Given the description of an element on the screen output the (x, y) to click on. 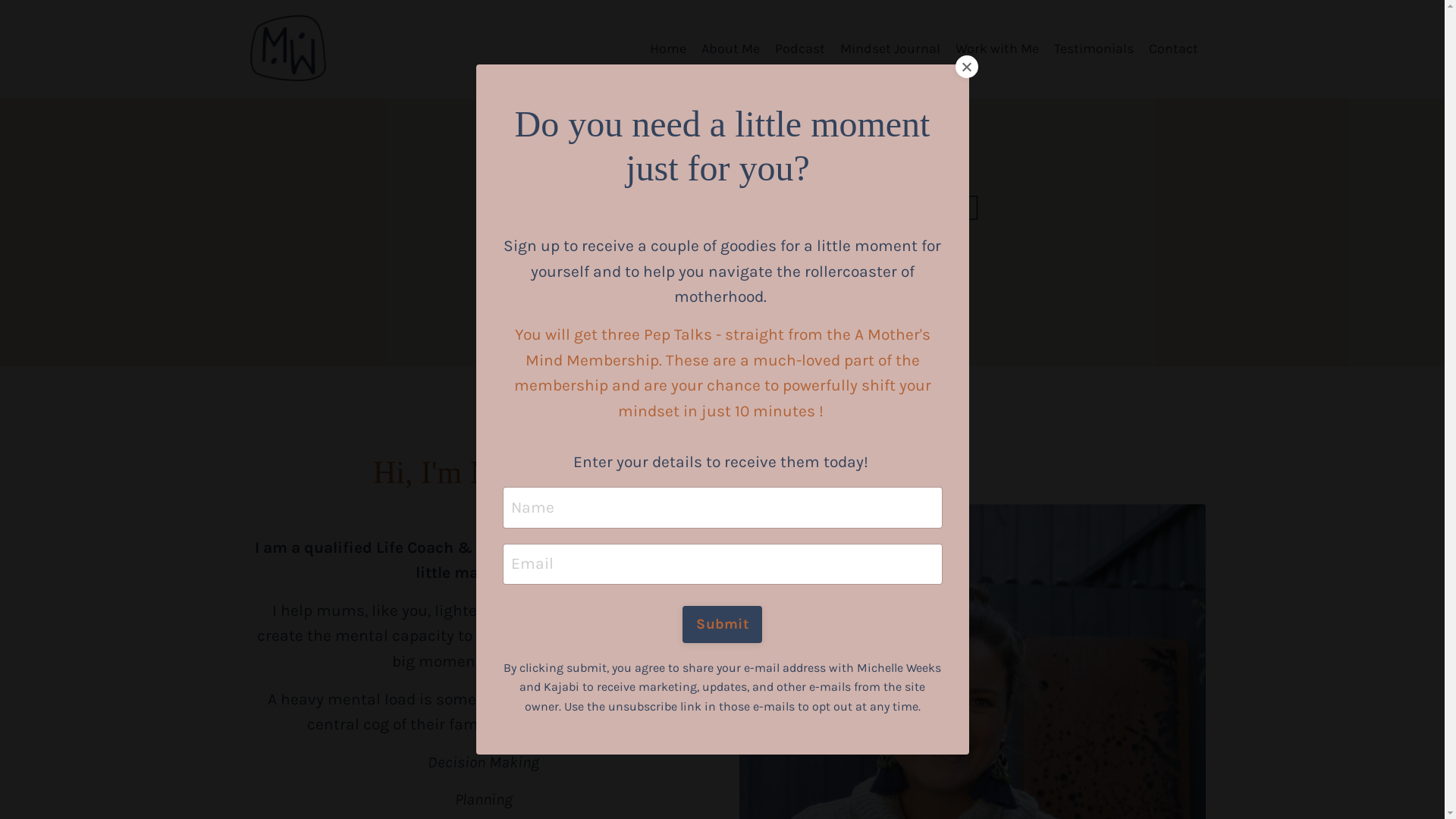
Submit Element type: text (722, 623)
Mindset Journal Element type: text (890, 48)
Contact Element type: text (1173, 48)
About Me Element type: text (730, 48)
Home Element type: text (667, 48)
Podcast Element type: text (800, 48)
Work with Me Element type: text (996, 48)
Testimonials Element type: text (1093, 48)
